Given the description of an element on the screen output the (x, y) to click on. 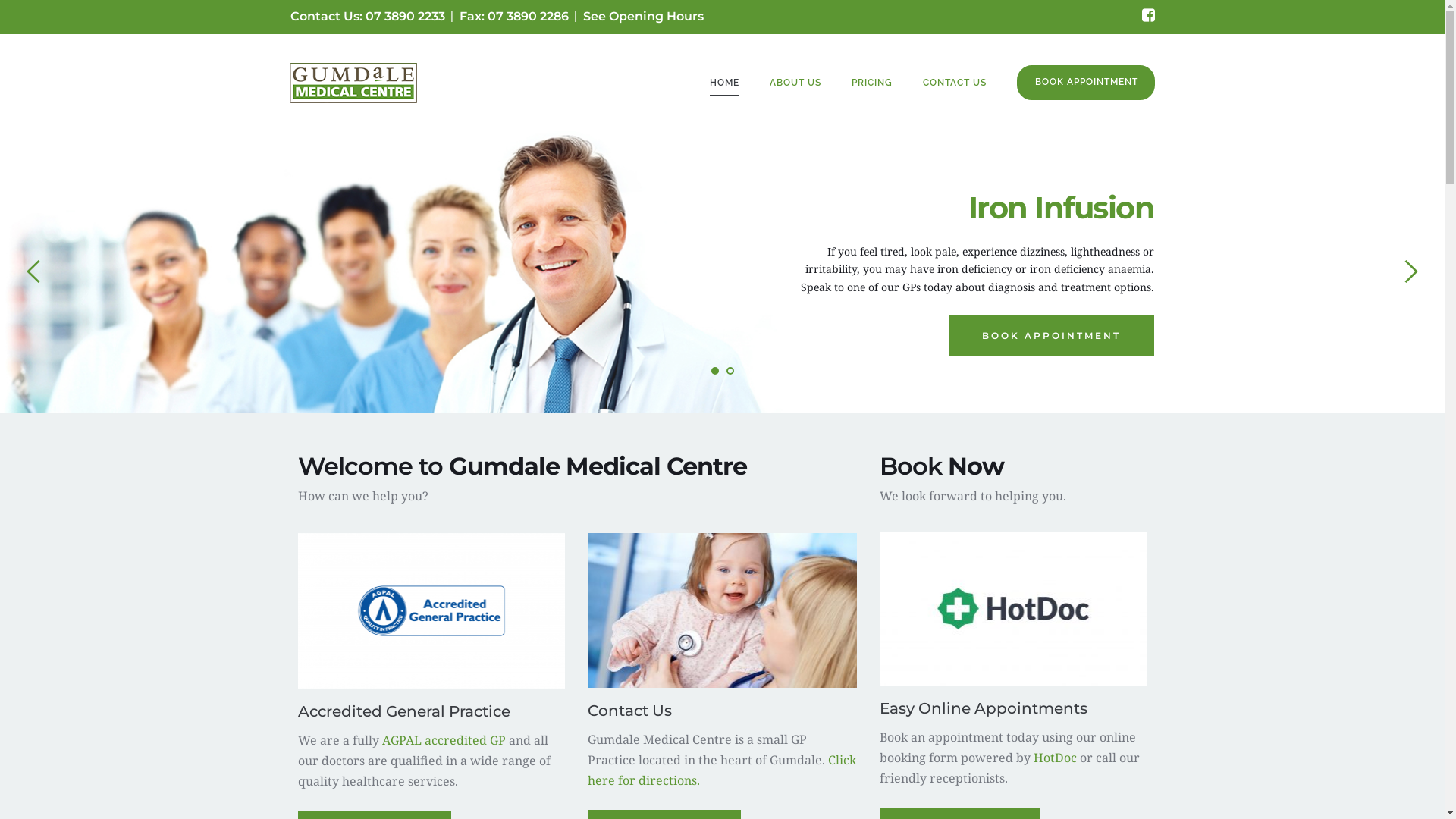
PRICING Element type: text (870, 82)
2 Element type: text (730, 370)
Click here for directions. Element type: text (723, 769)
ABOUT US Element type: text (794, 82)
HOME Element type: text (724, 82)
BOOK APPOINTMENT Element type: text (1051, 335)
See Opening Hours Element type: text (642, 16)
Contact Us: 07 3890 2233 Element type: text (366, 16)
BOOK APPOINTMENT Element type: text (1085, 82)
HotDoc Element type: text (1054, 757)
Fax: 07 3890 2286 Element type: text (513, 16)
CONTACT US Element type: text (953, 82)
1 Element type: text (714, 370)
